Given the description of an element on the screen output the (x, y) to click on. 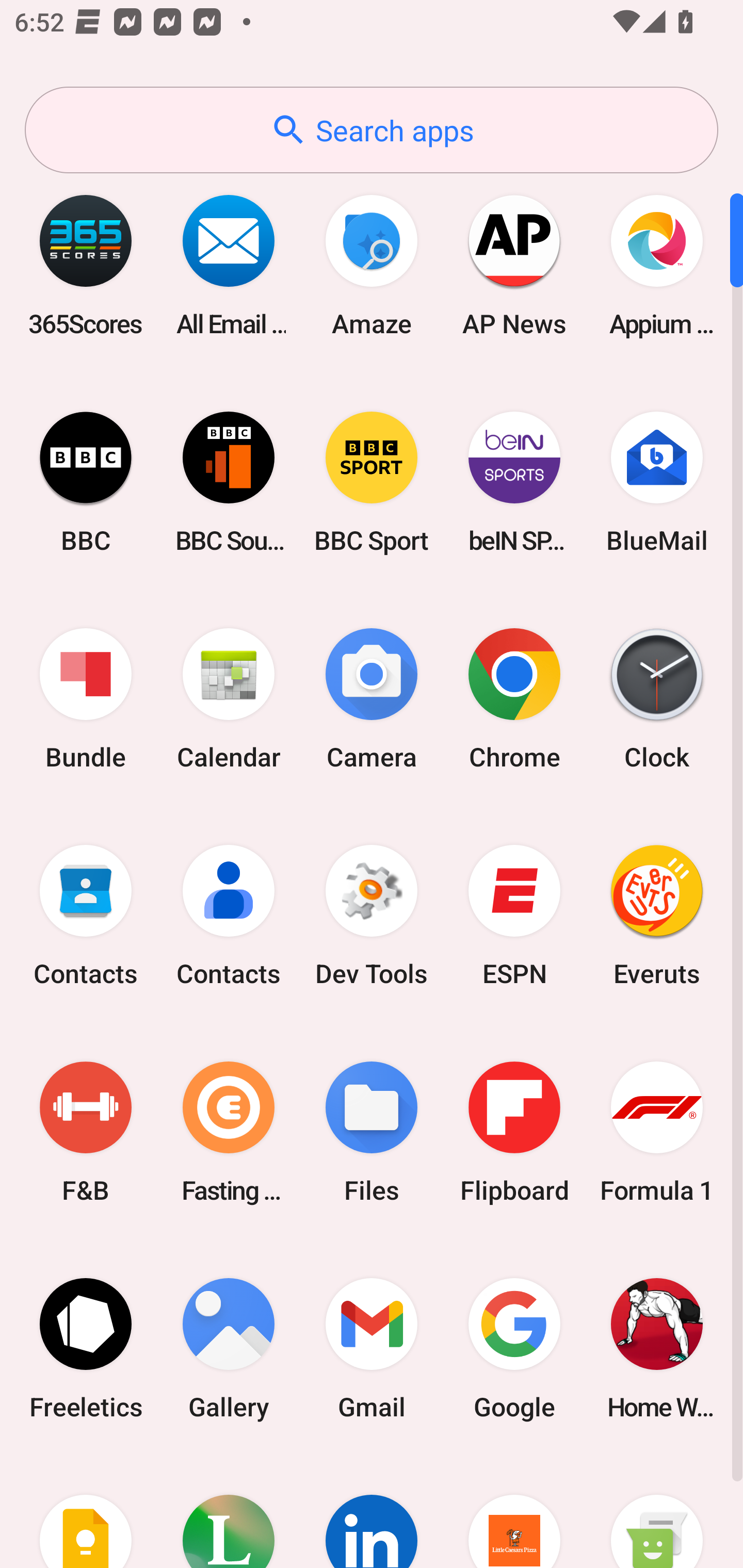
  Search apps (371, 130)
365Scores (85, 264)
All Email Connect (228, 264)
Amaze (371, 264)
AP News (514, 264)
Appium Settings (656, 264)
BBC (85, 482)
BBC Sounds (228, 482)
BBC Sport (371, 482)
beIN SPORTS (514, 482)
BlueMail (656, 482)
Bundle (85, 699)
Calendar (228, 699)
Camera (371, 699)
Chrome (514, 699)
Clock (656, 699)
Contacts (85, 915)
Contacts (228, 915)
Dev Tools (371, 915)
ESPN (514, 915)
Everuts (656, 915)
F&B (85, 1131)
Fasting Coach (228, 1131)
Files (371, 1131)
Flipboard (514, 1131)
Formula 1 (656, 1131)
Freeletics (85, 1348)
Gallery (228, 1348)
Gmail (371, 1348)
Google (514, 1348)
Home Workout (656, 1348)
